Given the description of an element on the screen output the (x, y) to click on. 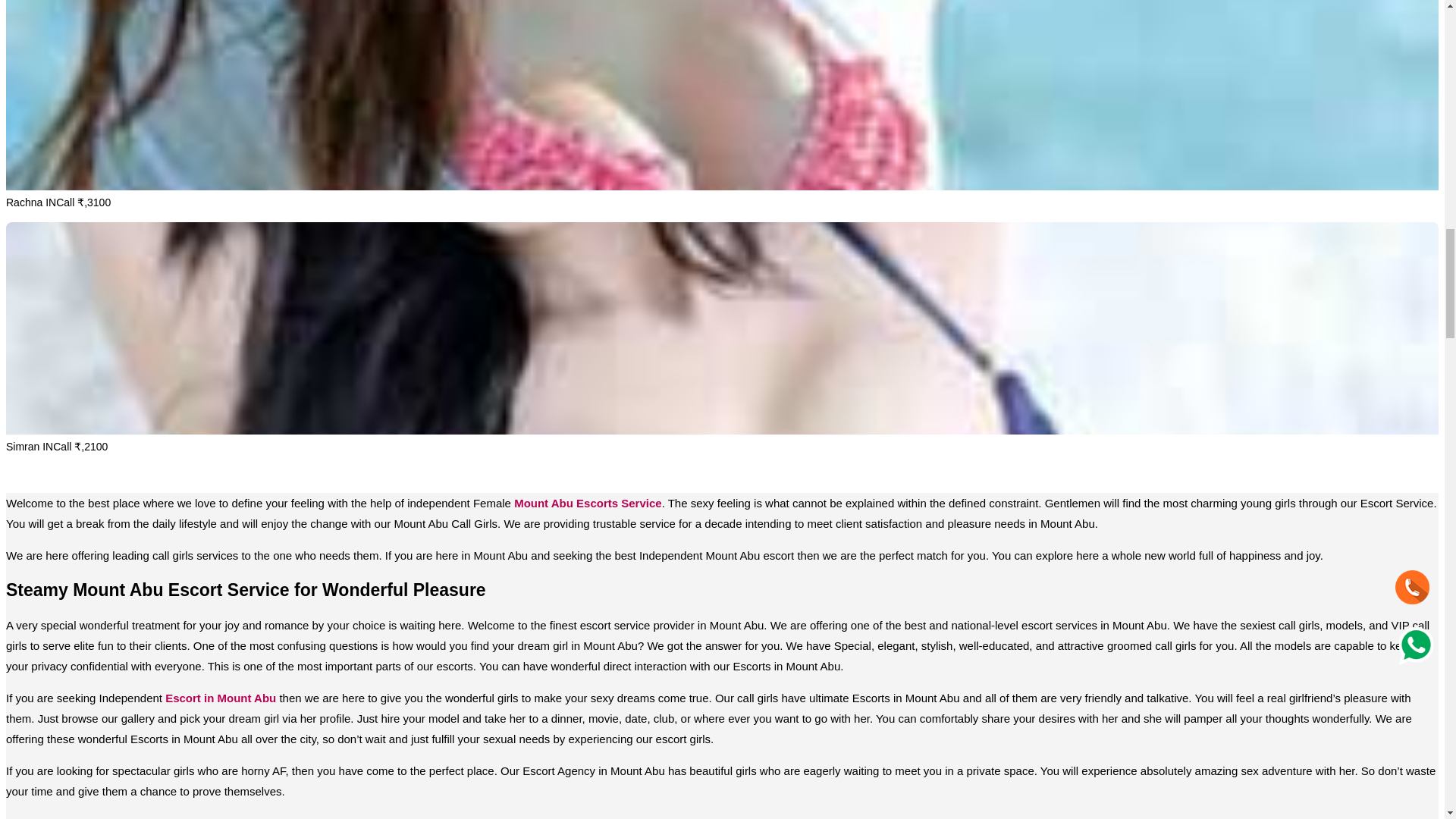
Escort in Mount Abu (220, 697)
Mount Abu Escorts Service (587, 502)
